Given the description of an element on the screen output the (x, y) to click on. 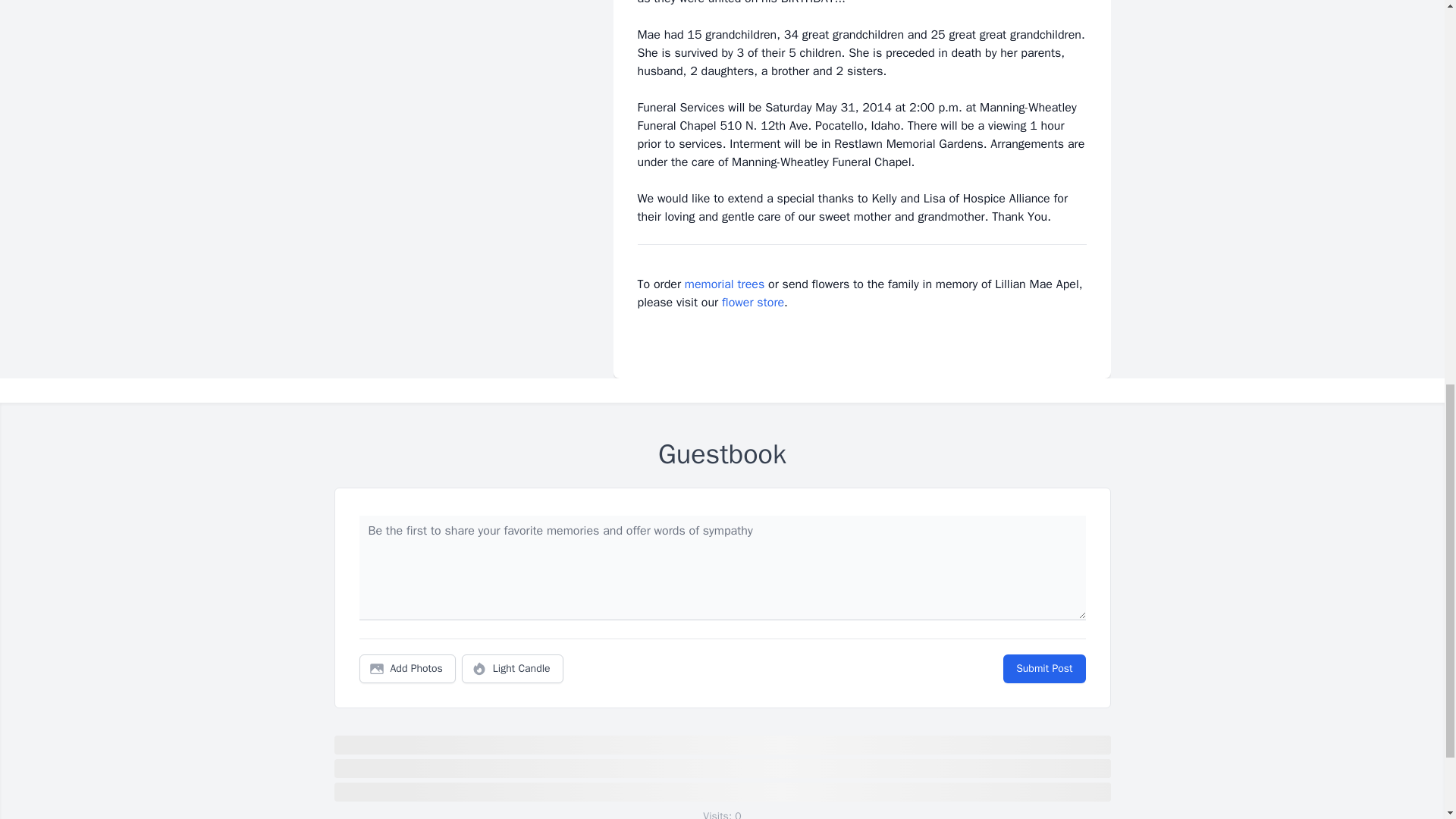
Light Candle (512, 668)
memorial trees (724, 283)
Add Photos (407, 668)
flower store (753, 302)
Submit Post (1043, 668)
